Given the description of an element on the screen output the (x, y) to click on. 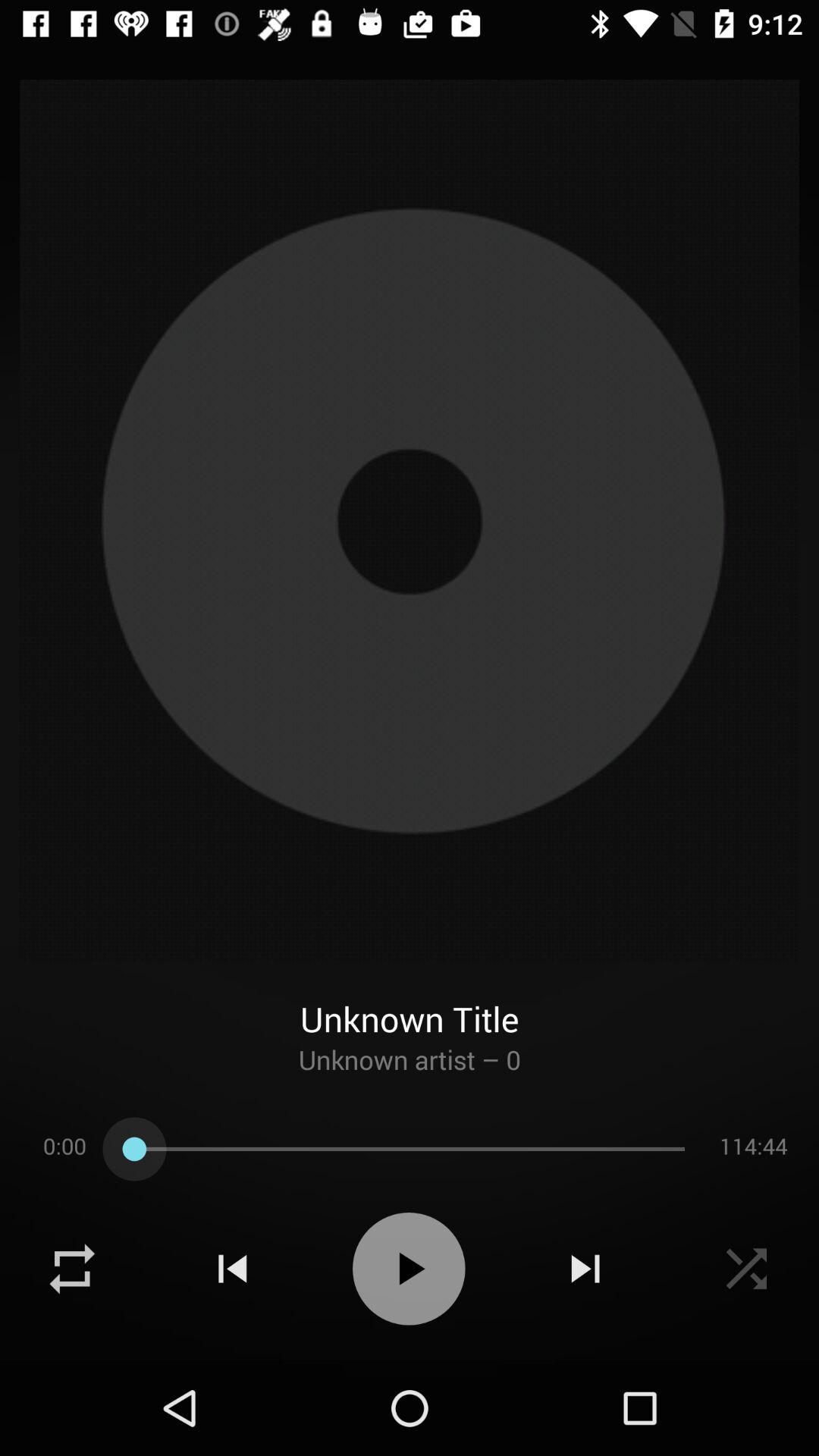
switch autoplay option (408, 1268)
